Given the description of an element on the screen output the (x, y) to click on. 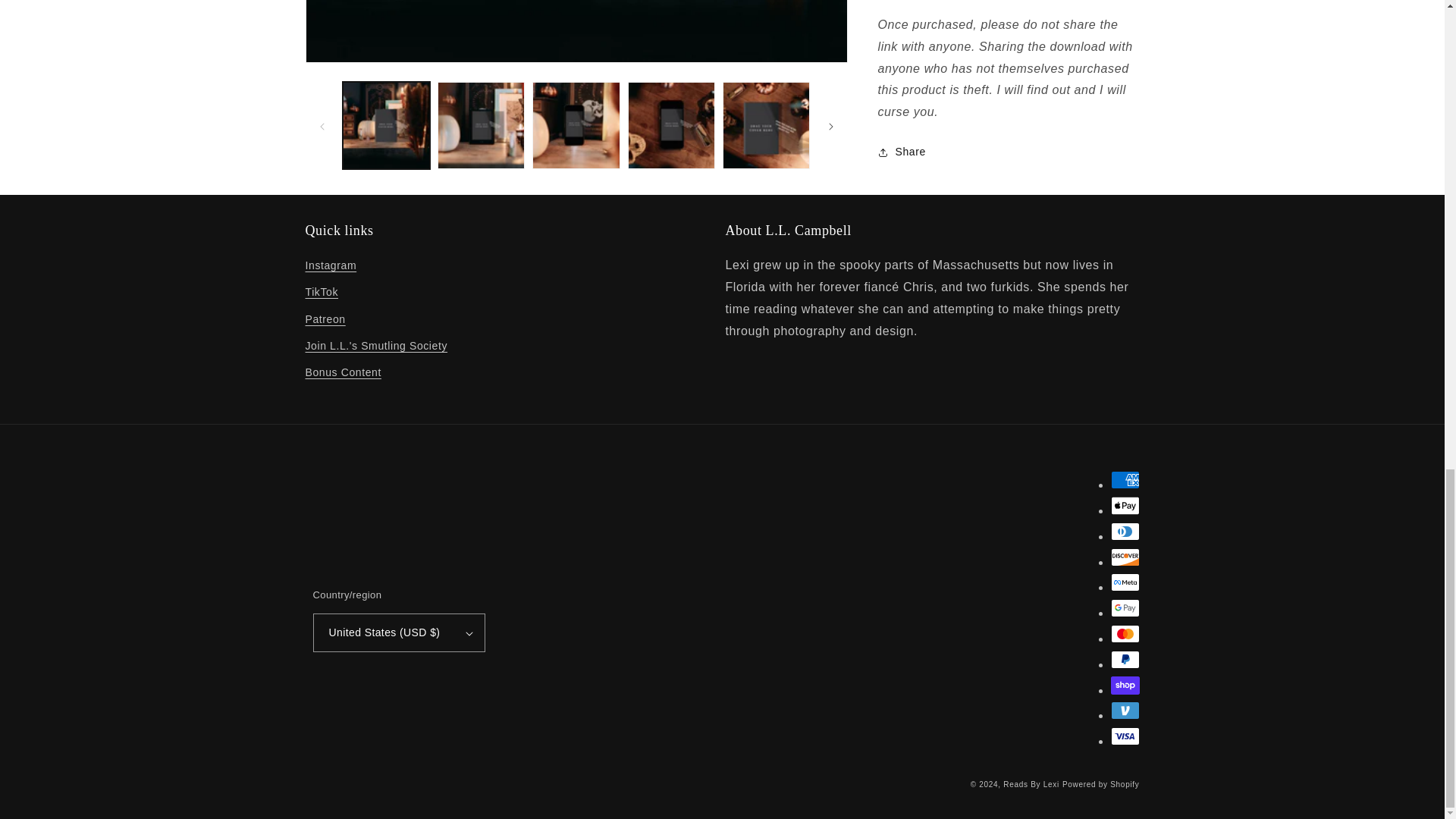
American Express (1123, 479)
PayPal (1123, 659)
Shop Pay (1123, 685)
Google Pay (1123, 607)
Apple Pay (1123, 505)
Discover (1123, 556)
Mastercard (1123, 633)
Diners Club (1123, 531)
Meta Pay (1123, 582)
